Given the description of an element on the screen output the (x, y) to click on. 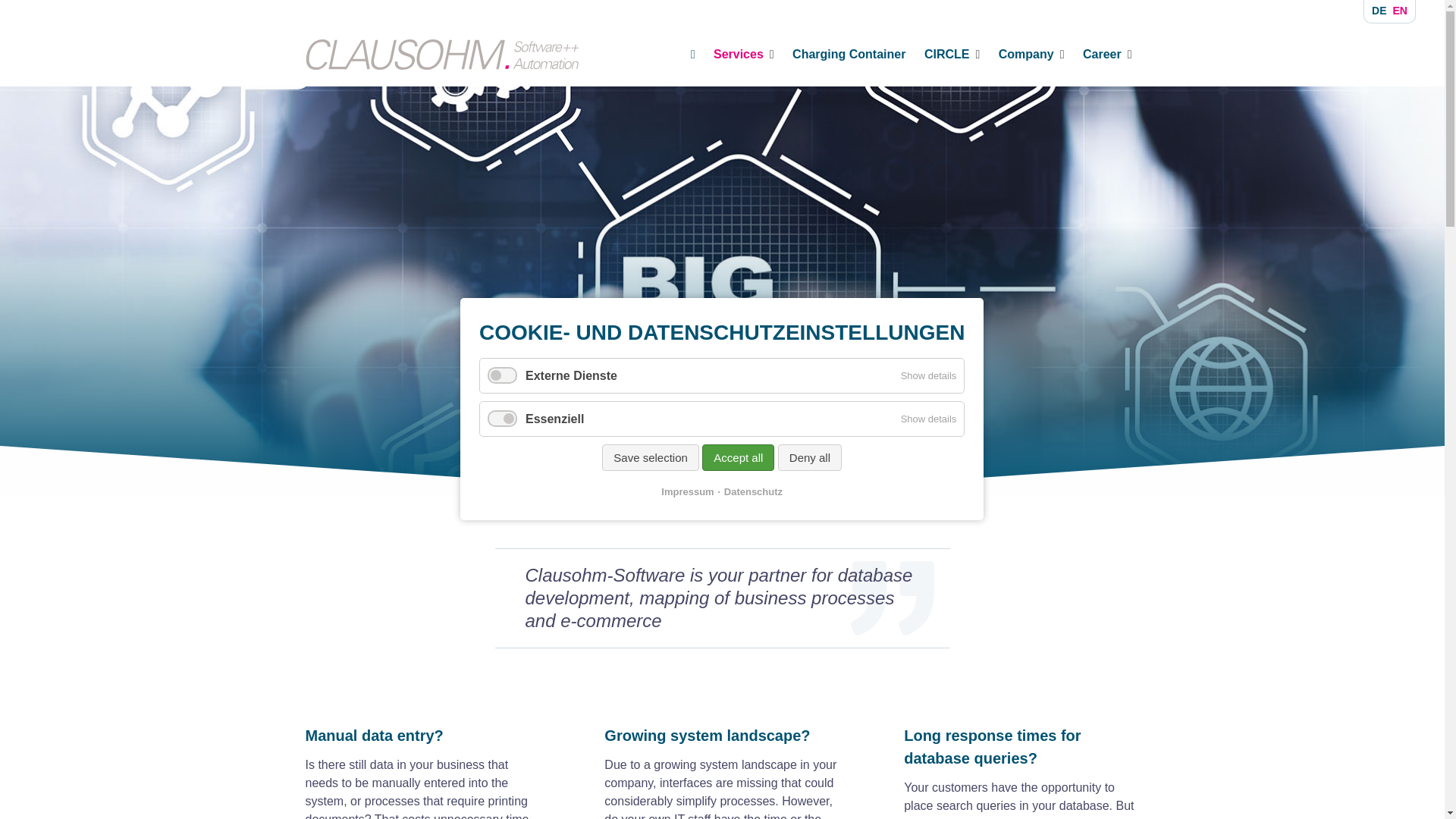
Clausohm.de - EN (633, 438)
Services (743, 54)
Company (1031, 54)
DE (1378, 10)
Services (743, 54)
Career (1106, 54)
Career (1106, 54)
Home (692, 54)
Company (1031, 54)
Charging Container (848, 54)
CIRCLE (952, 54)
Innovative Ladecontainer - effizient und sicher Akkus laden (848, 54)
DE (1378, 10)
Services (717, 438)
